Given the description of an element on the screen output the (x, y) to click on. 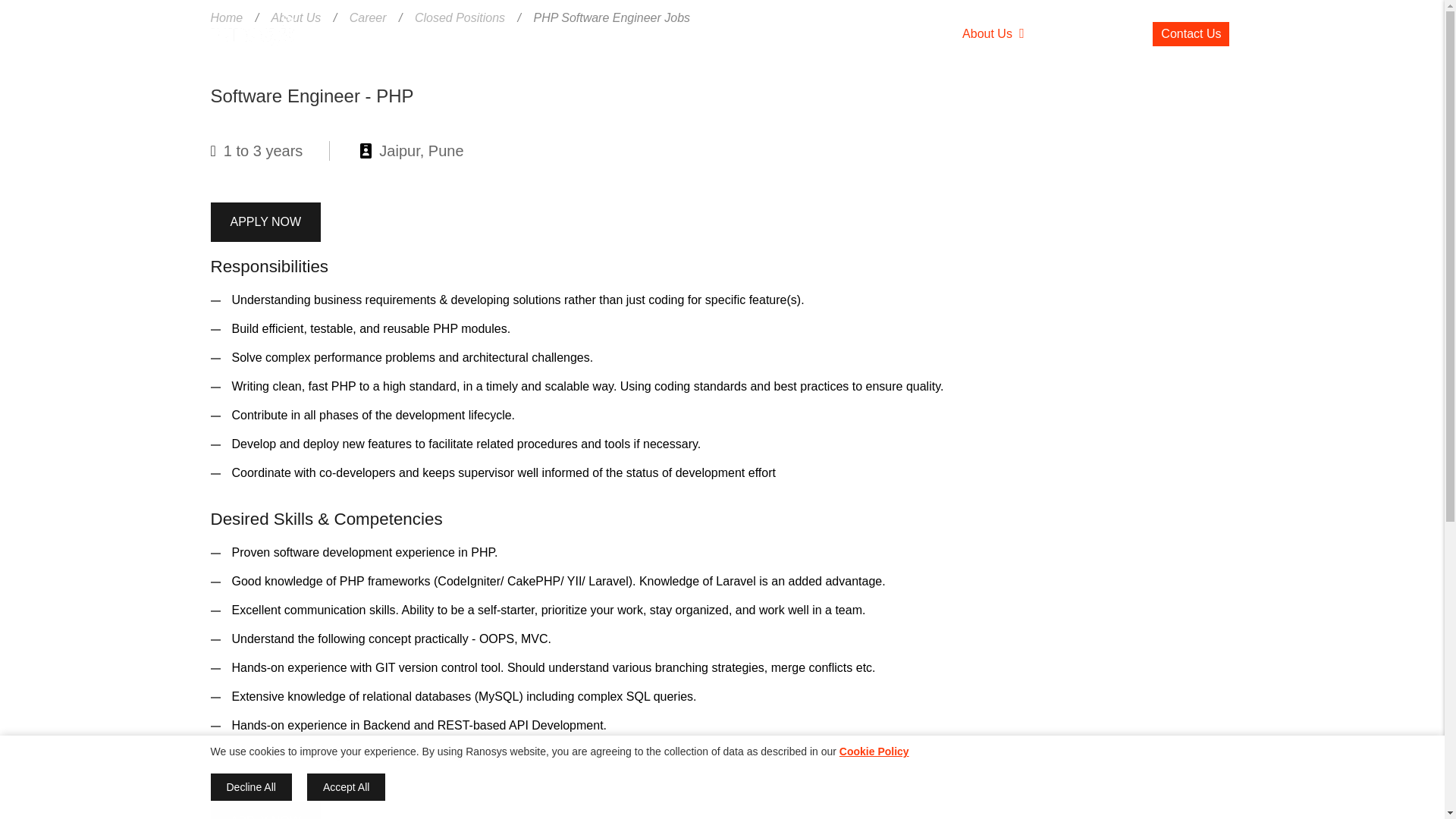
Solutions (711, 33)
Platforms (631, 33)
Services (548, 33)
Home (252, 34)
